Given the description of an element on the screen output the (x, y) to click on. 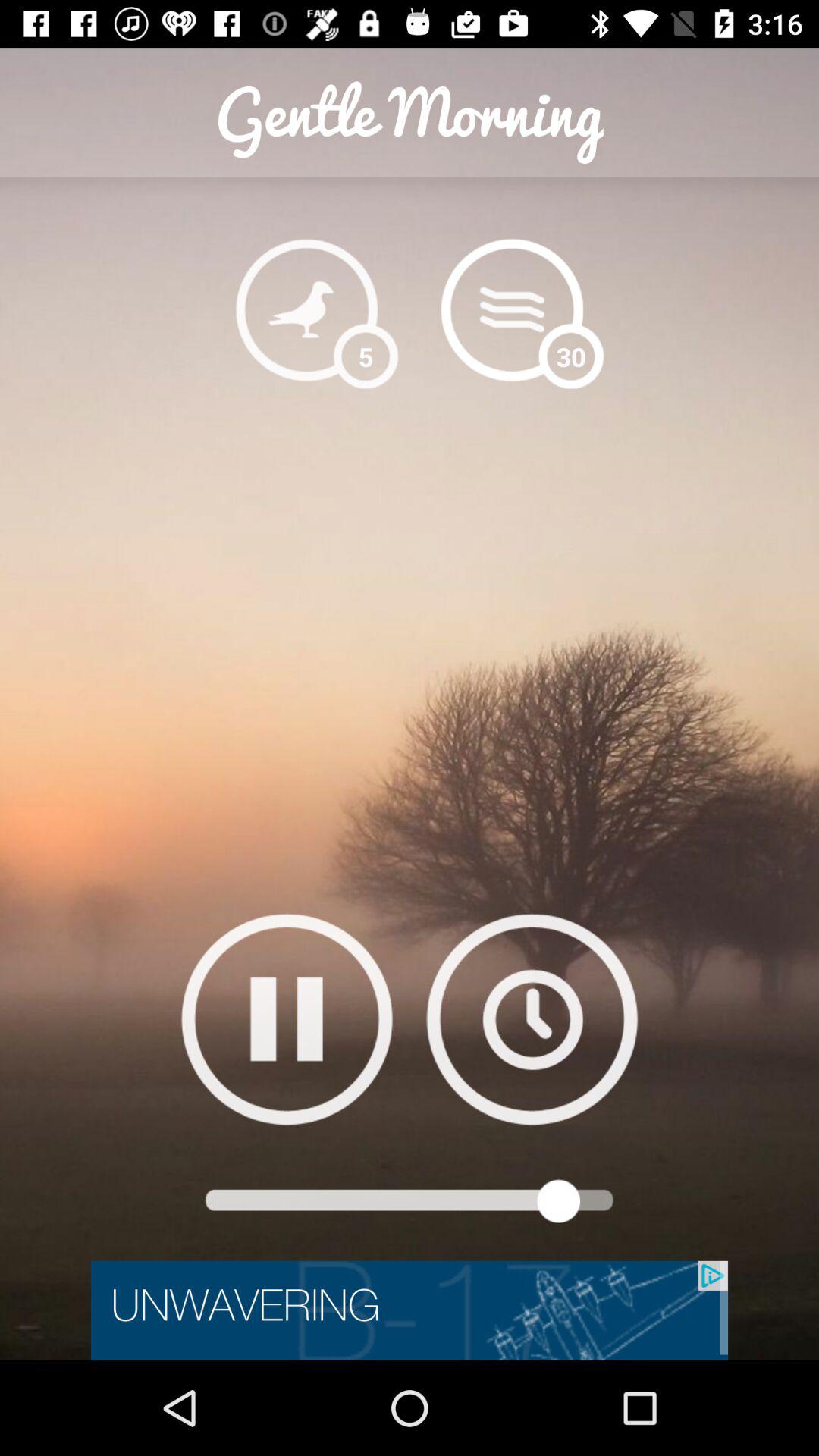
go to advertising page (409, 1310)
